Given the description of an element on the screen output the (x, y) to click on. 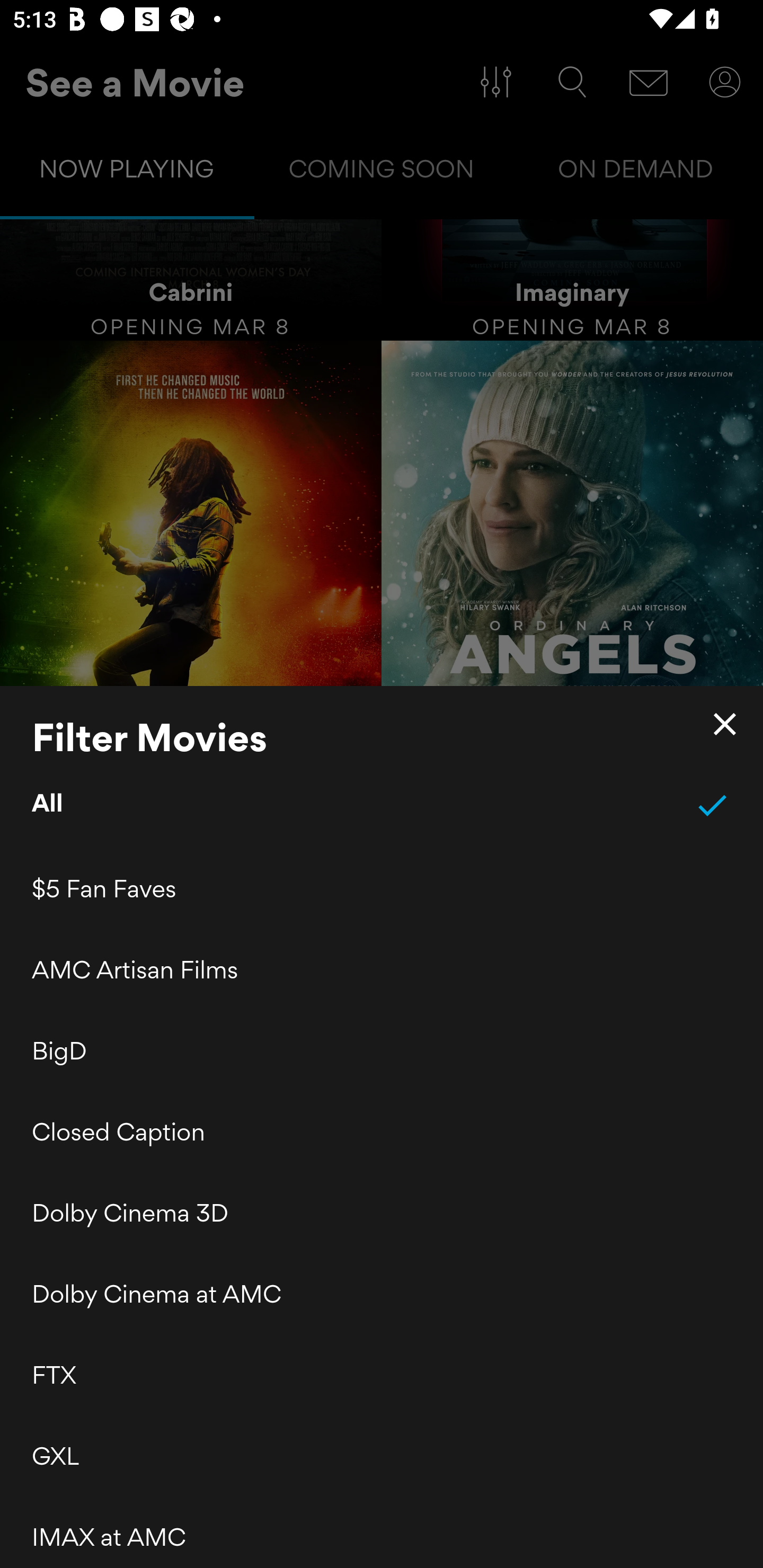
Close (724, 724)
All (381, 805)
$5 Fan Faves (381, 888)
AMC Artisan Films (381, 969)
BigD (381, 1050)
Closed Caption (381, 1131)
Dolby Cinema 3D (381, 1212)
Dolby Cinema at AMC (381, 1293)
FTX (381, 1374)
GXL (381, 1455)
IMAX at AMC (381, 1531)
